Given the description of an element on the screen output the (x, y) to click on. 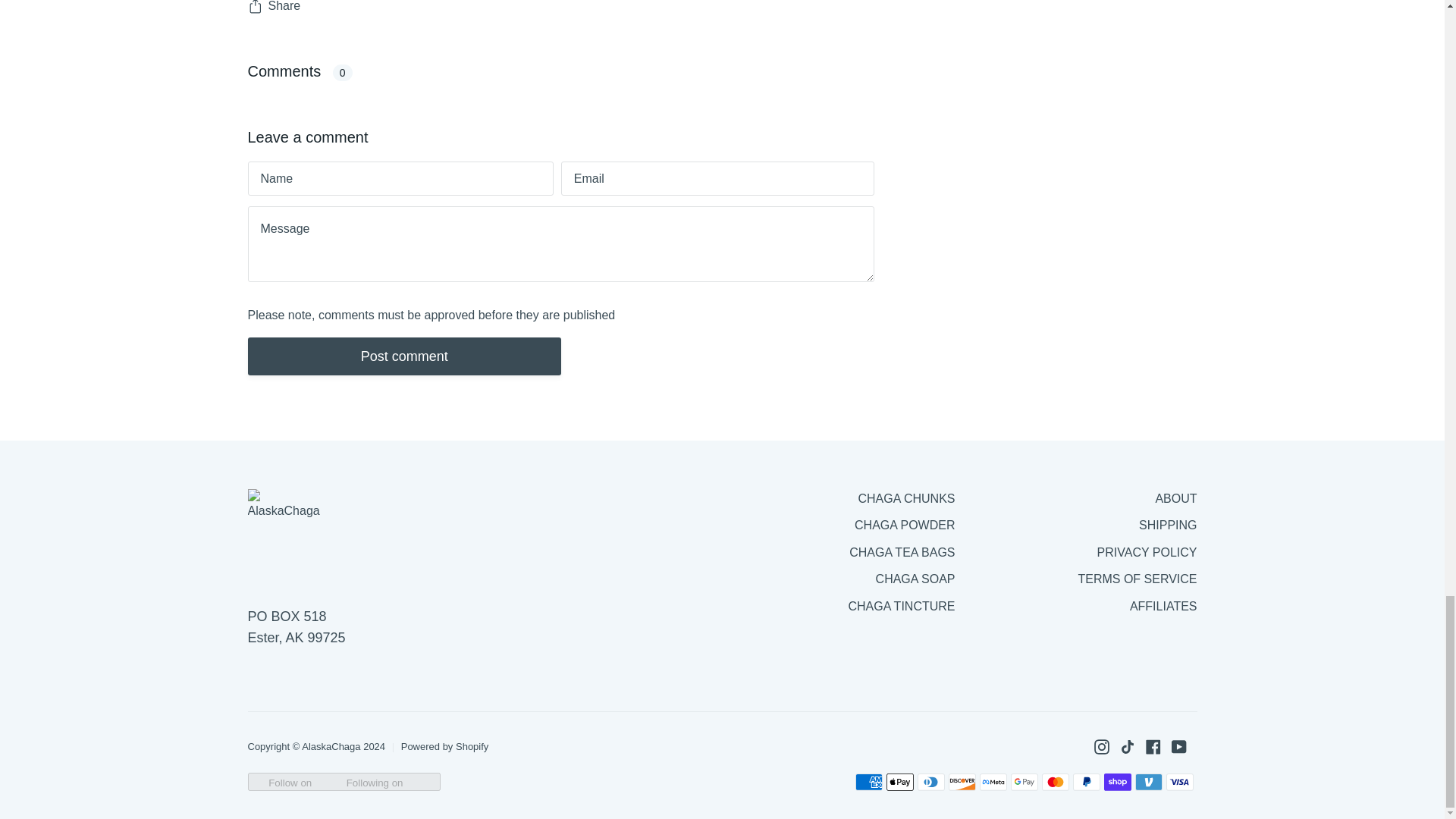
AlaskaChaga on YouTube (1178, 746)
AlaskaChaga on TikTok (1126, 746)
Post comment (403, 356)
AlaskaChaga on Instagram (1100, 746)
AlaskaChaga on Facebook (1152, 746)
